Given the description of an element on the screen output the (x, y) to click on. 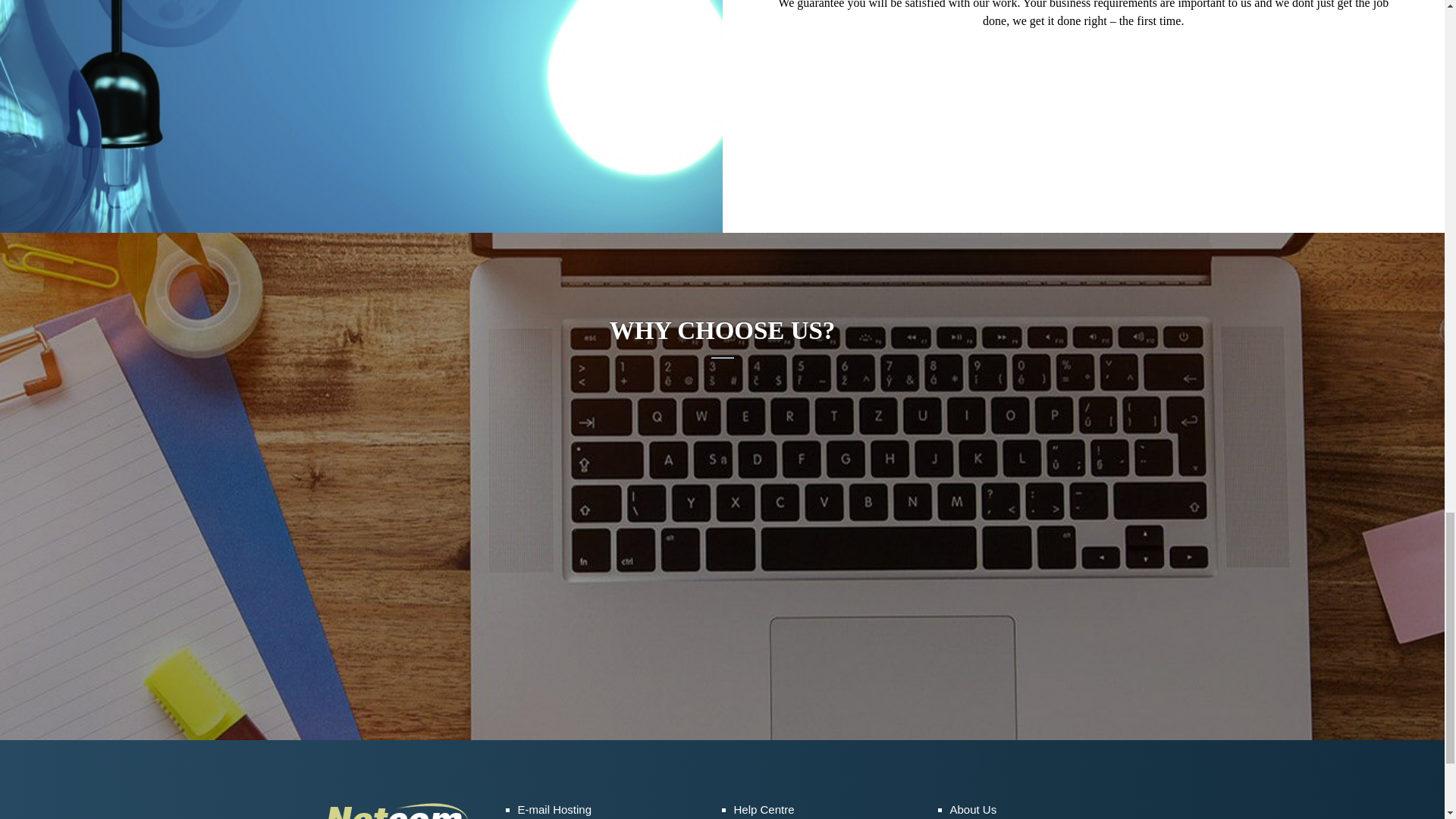
Help Centre (763, 809)
E-mail Hosting (553, 809)
About Us (972, 809)
